Given the description of an element on the screen output the (x, y) to click on. 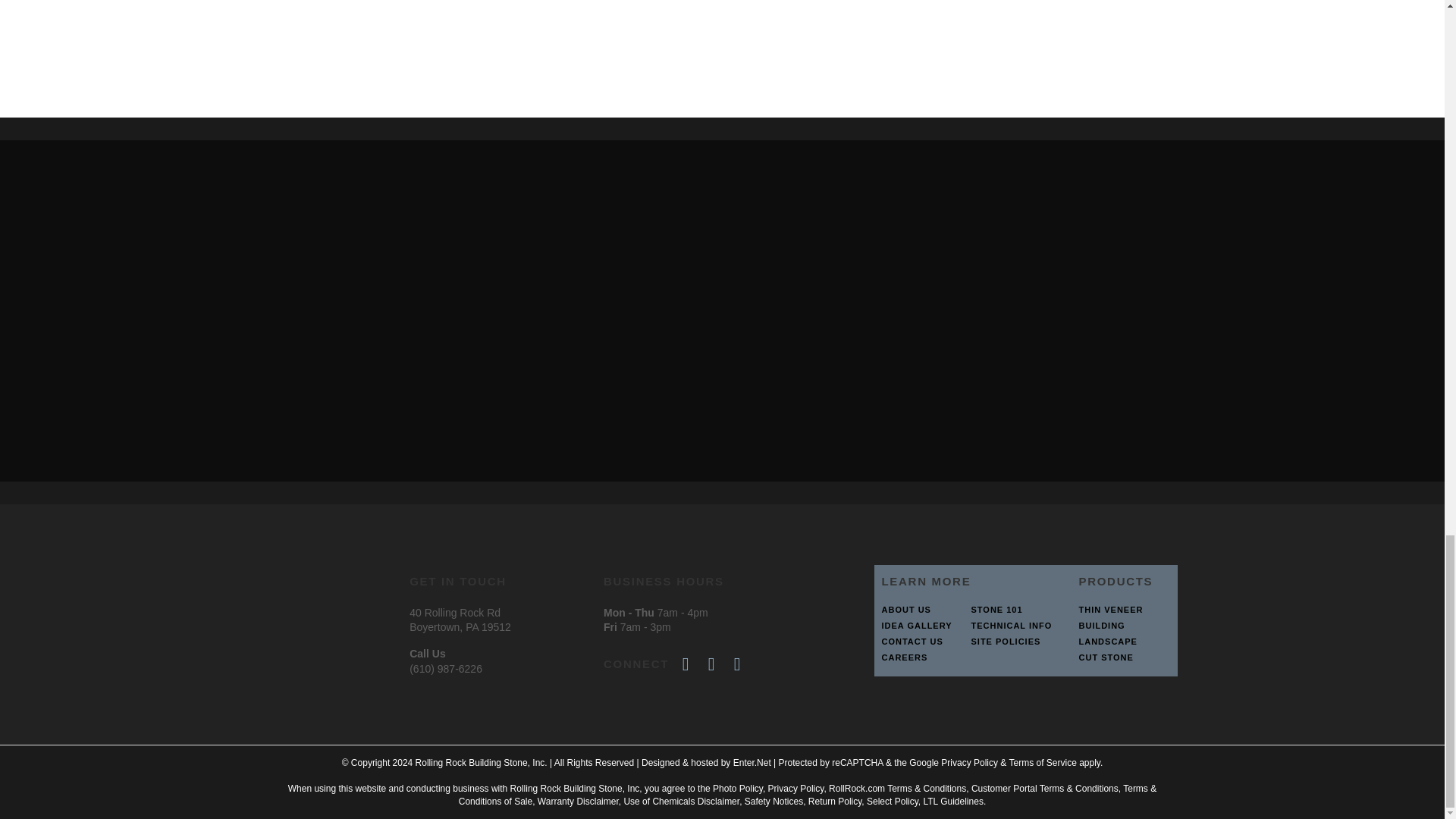
CONTACT US (917, 642)
ABOUT US (917, 610)
IDEA GALLERY (917, 625)
Home 1 (349, 28)
CAREERS (917, 657)
